Given the description of an element on the screen output the (x, y) to click on. 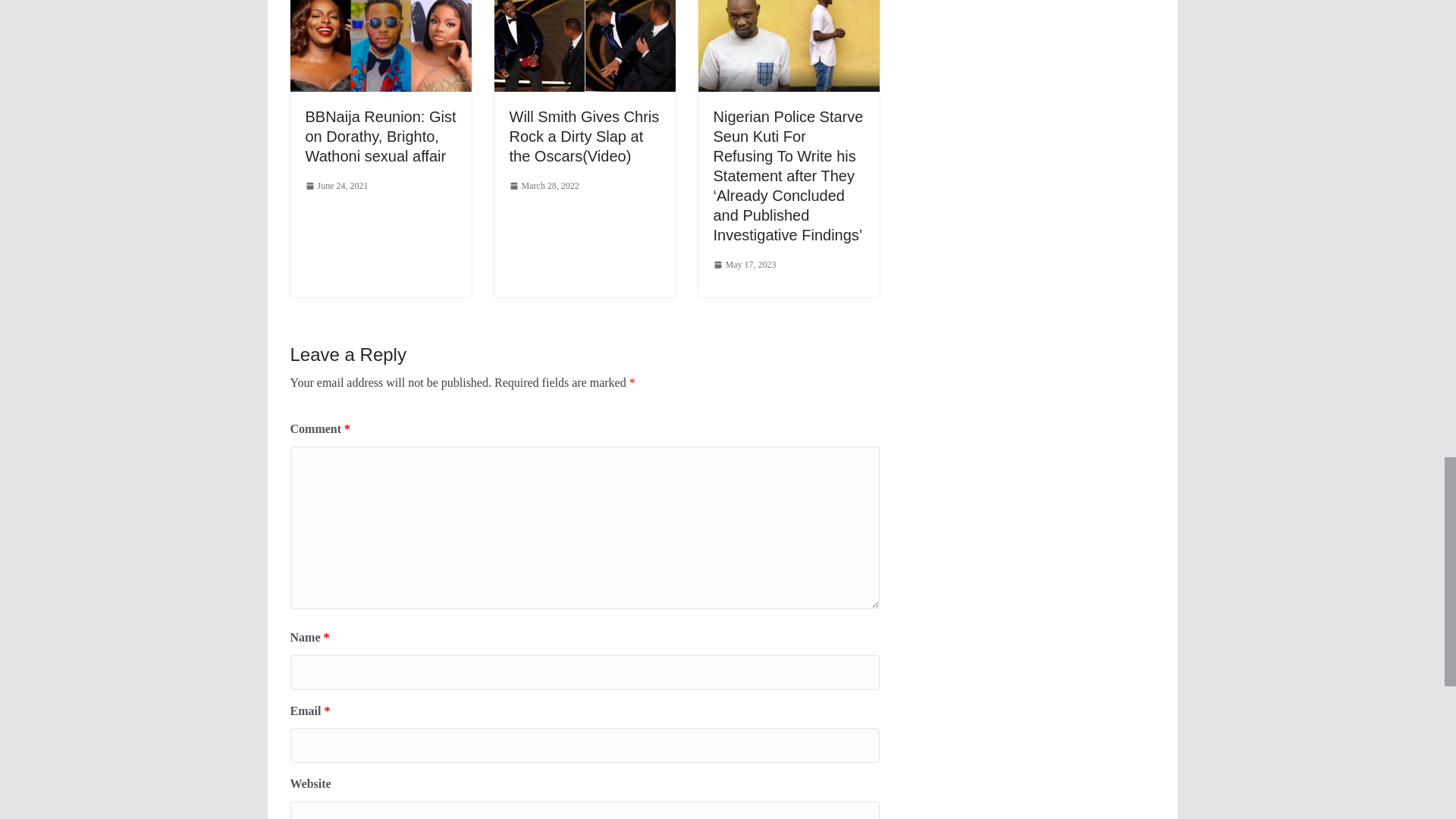
June 24, 2021 (336, 186)
5:47 pm (336, 186)
1:49 pm (544, 186)
May 17, 2023 (744, 265)
5:32 am (744, 265)
March 28, 2022 (544, 186)
